Given the description of an element on the screen output the (x, y) to click on. 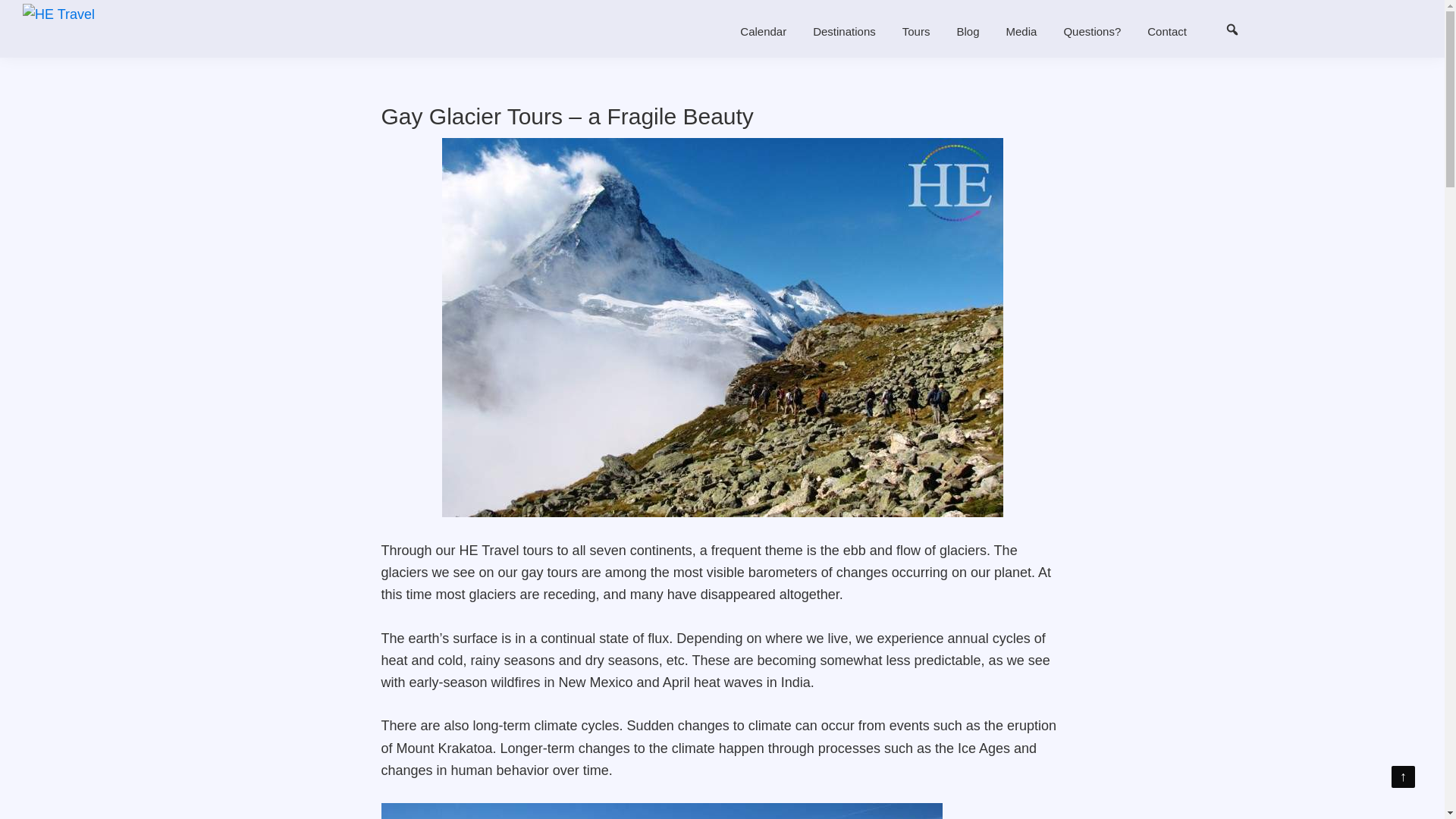
Destinations (844, 30)
Media (1021, 30)
Blog (967, 30)
Calendar (763, 30)
Tours (916, 30)
